Given the description of an element on the screen output the (x, y) to click on. 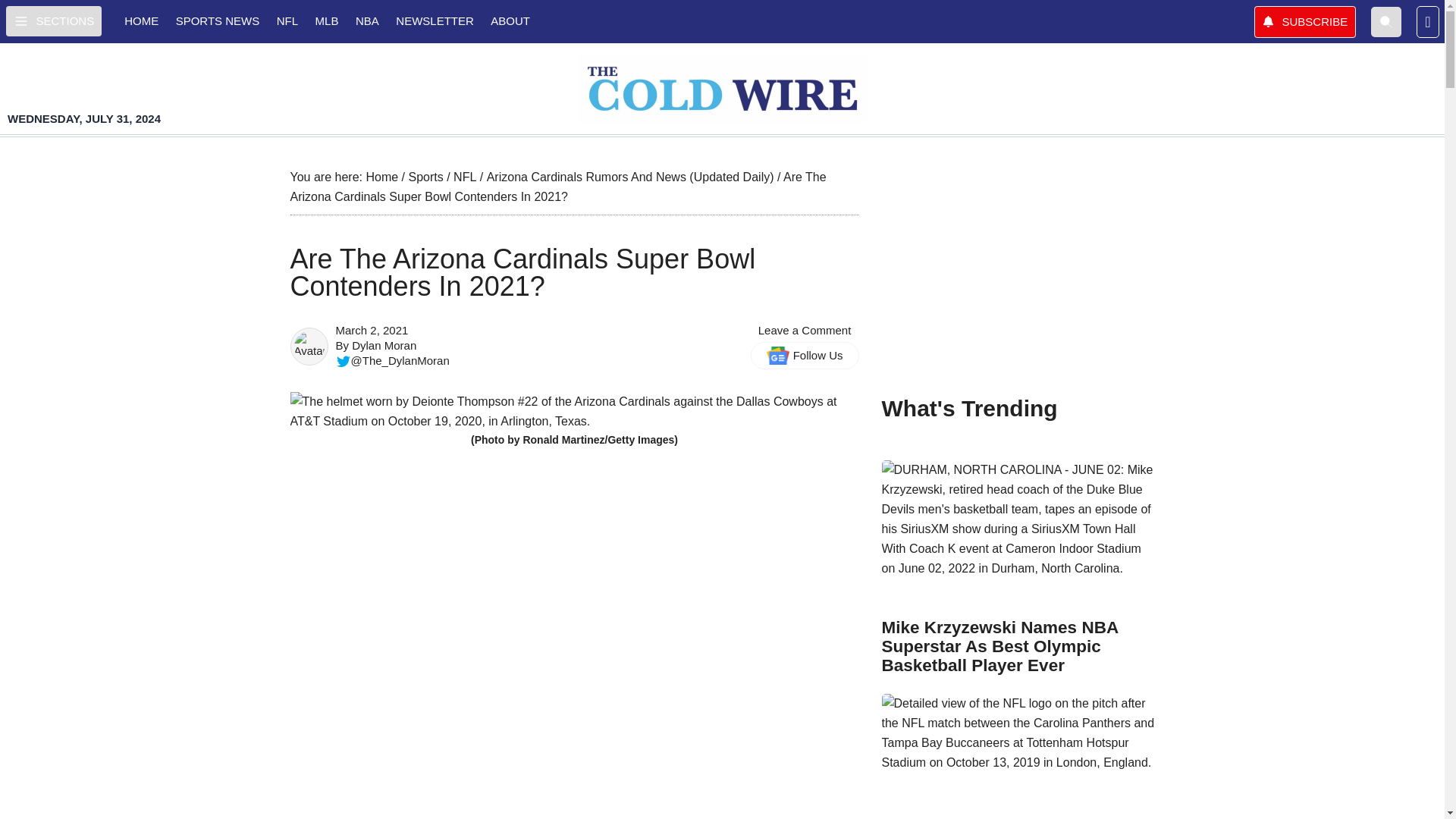
Search (1385, 20)
Open Menu (53, 20)
